Given the description of an element on the screen output the (x, y) to click on. 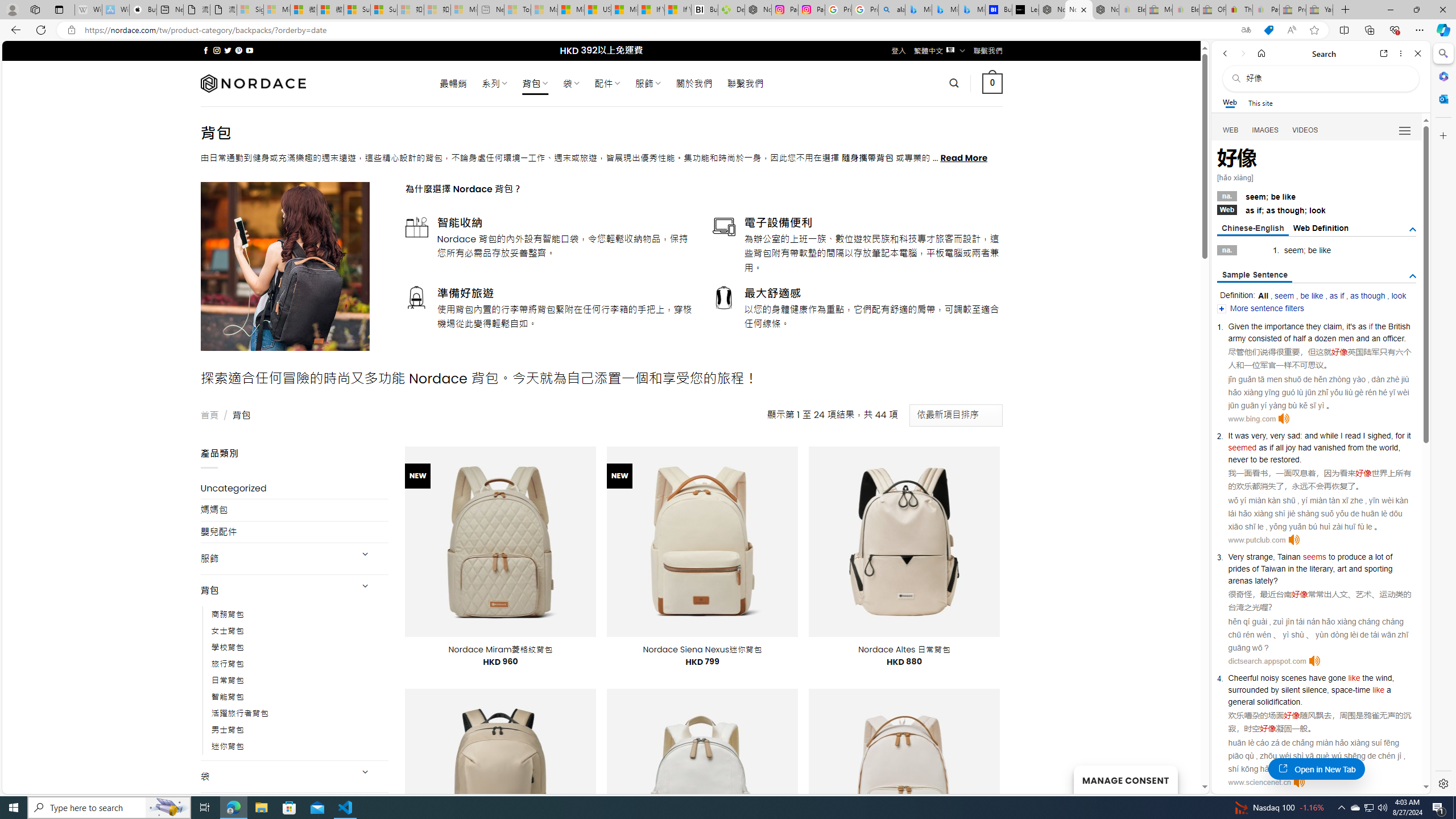
sighed (1378, 435)
MANAGE CONSENT (1125, 779)
alabama high school quarterback dies - Search (891, 9)
Follow on Facebook (205, 50)
seemed (1241, 447)
consisted (1264, 338)
